Given the description of an element on the screen output the (x, y) to click on. 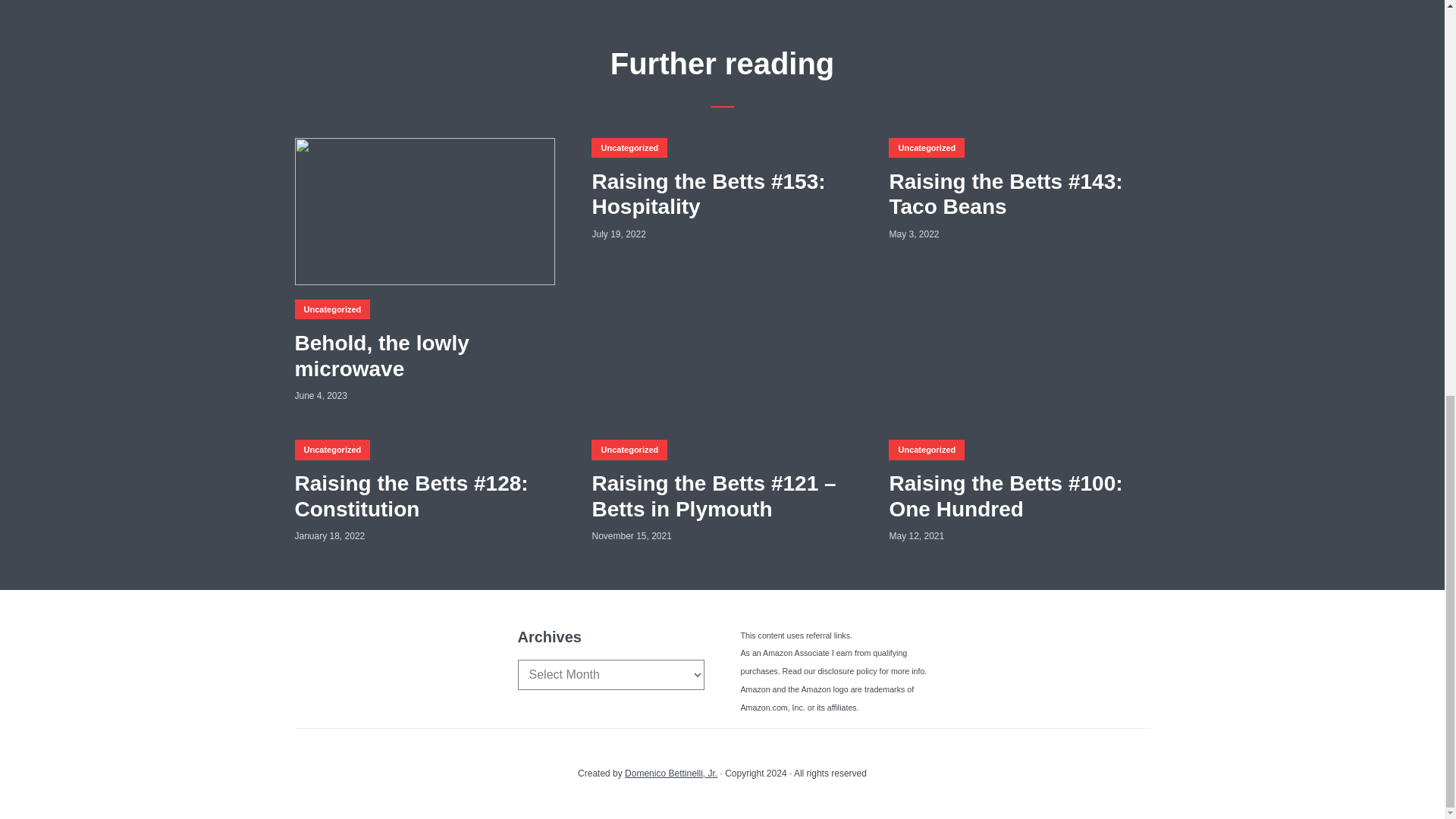
Uncategorized (925, 449)
Uncategorized (331, 449)
Uncategorized (628, 449)
Behold, the lowly microwave (424, 355)
Uncategorized (331, 309)
Uncategorized (925, 148)
Uncategorized (628, 148)
Domenico Bettinelli, Jr. (670, 773)
disclosure policy (846, 670)
